Given the description of an element on the screen output the (x, y) to click on. 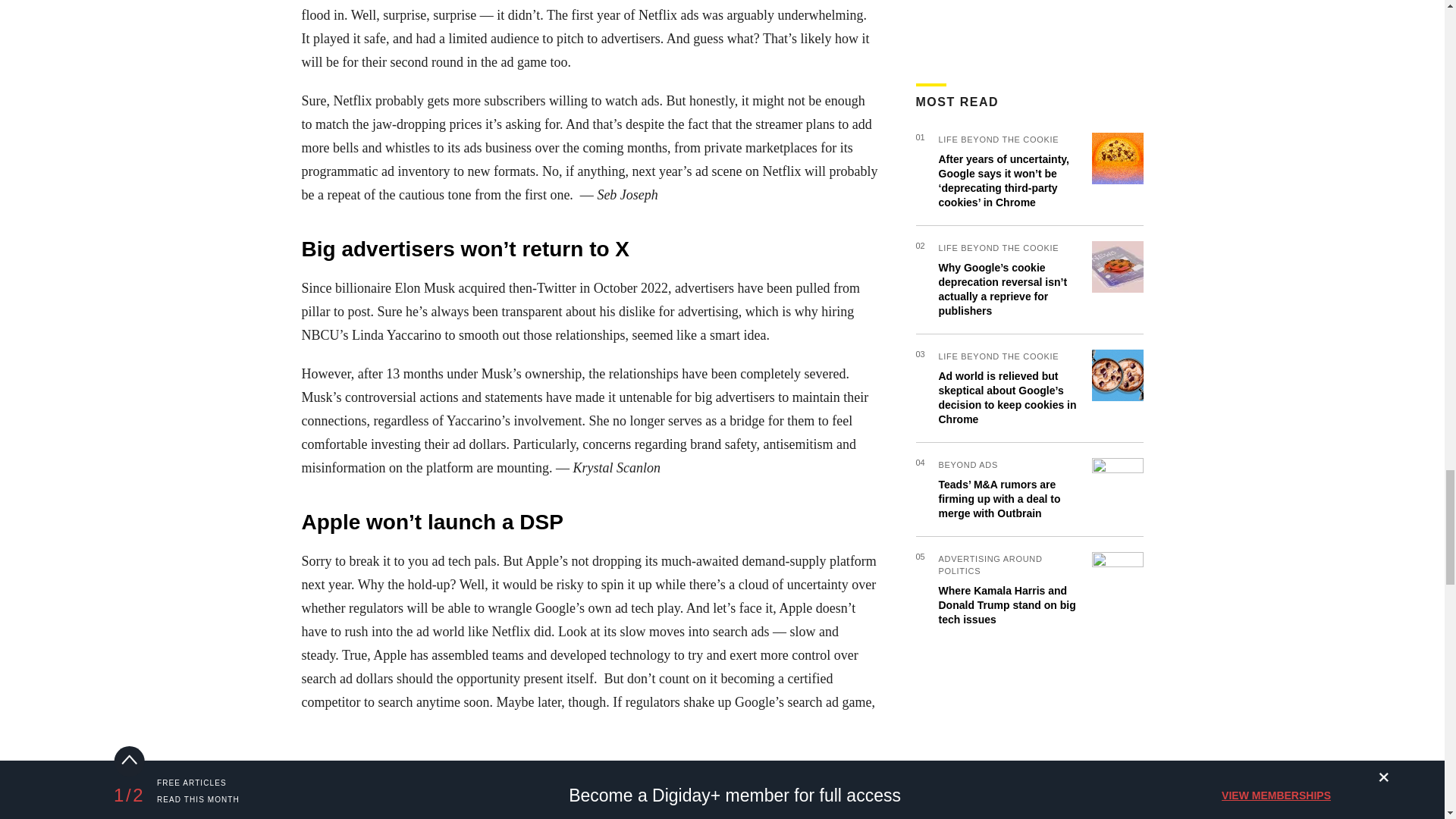
Share on Reddit (440, 795)
Share on Twitter (357, 795)
Share on Facebook (316, 795)
Share on LinkedIn (398, 795)
